Given the description of an element on the screen output the (x, y) to click on. 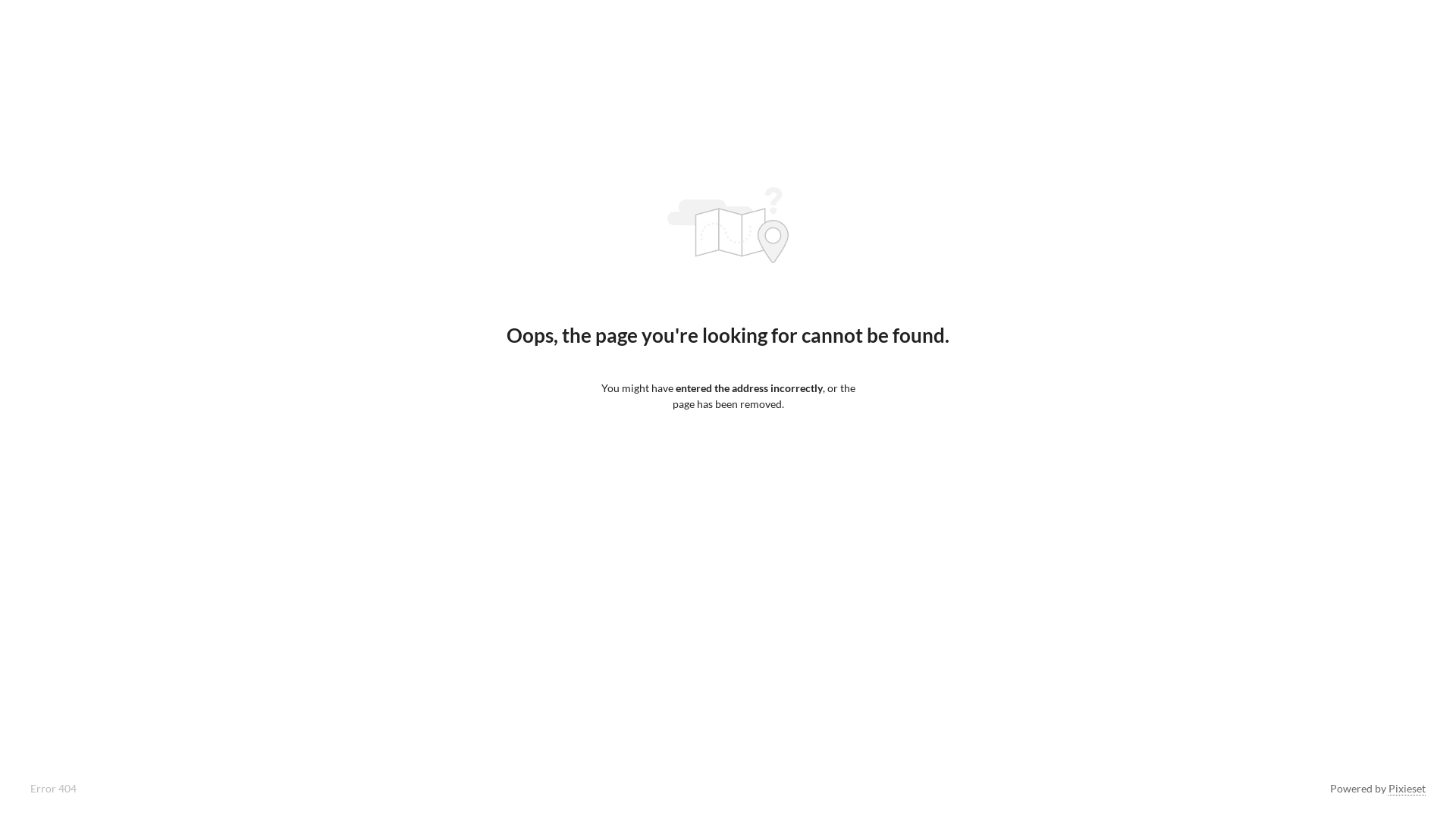
Pixieset Element type: text (1406, 788)
